Given the description of an element on the screen output the (x, y) to click on. 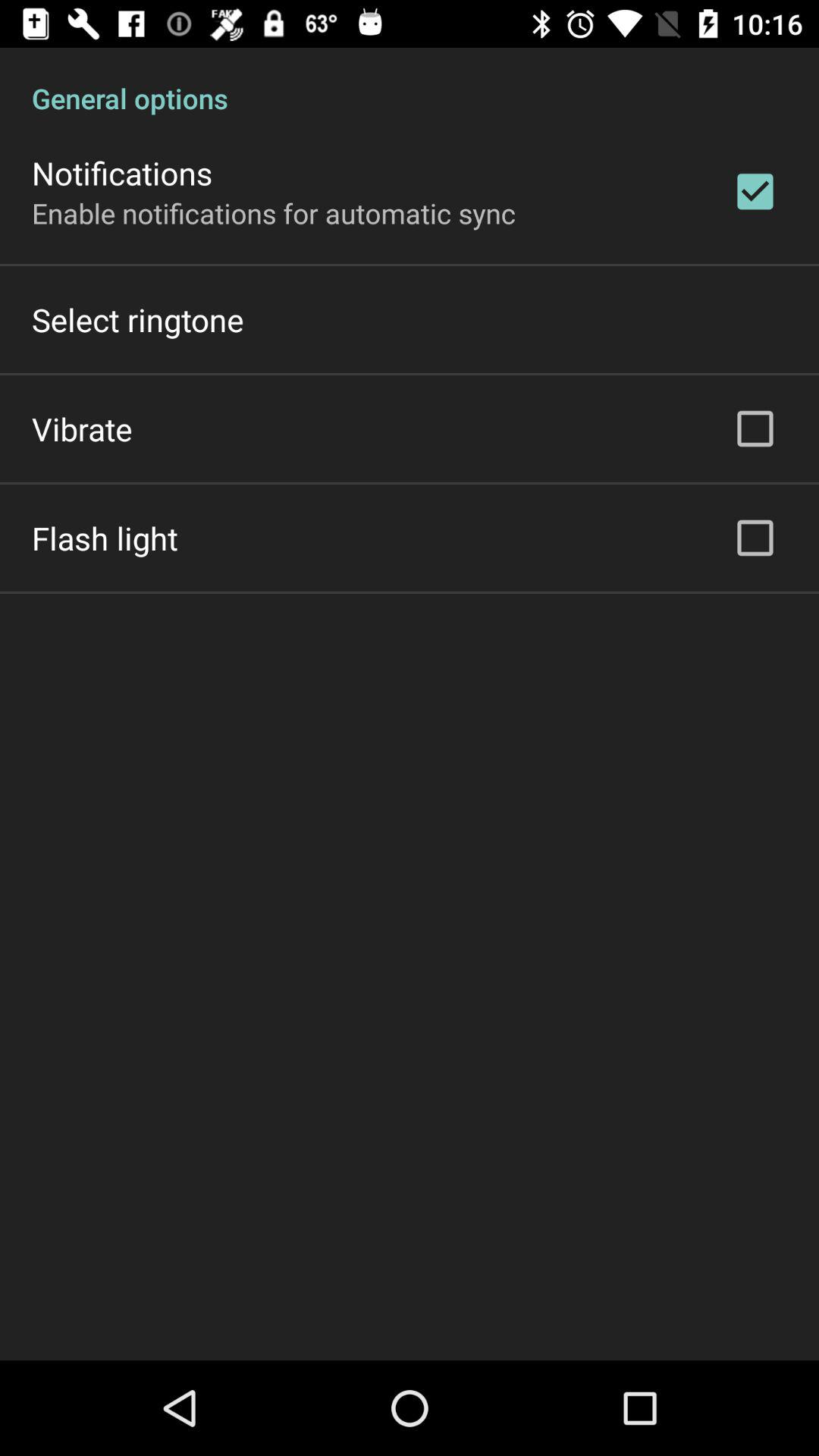
scroll until the general options (409, 82)
